Given the description of an element on the screen output the (x, y) to click on. 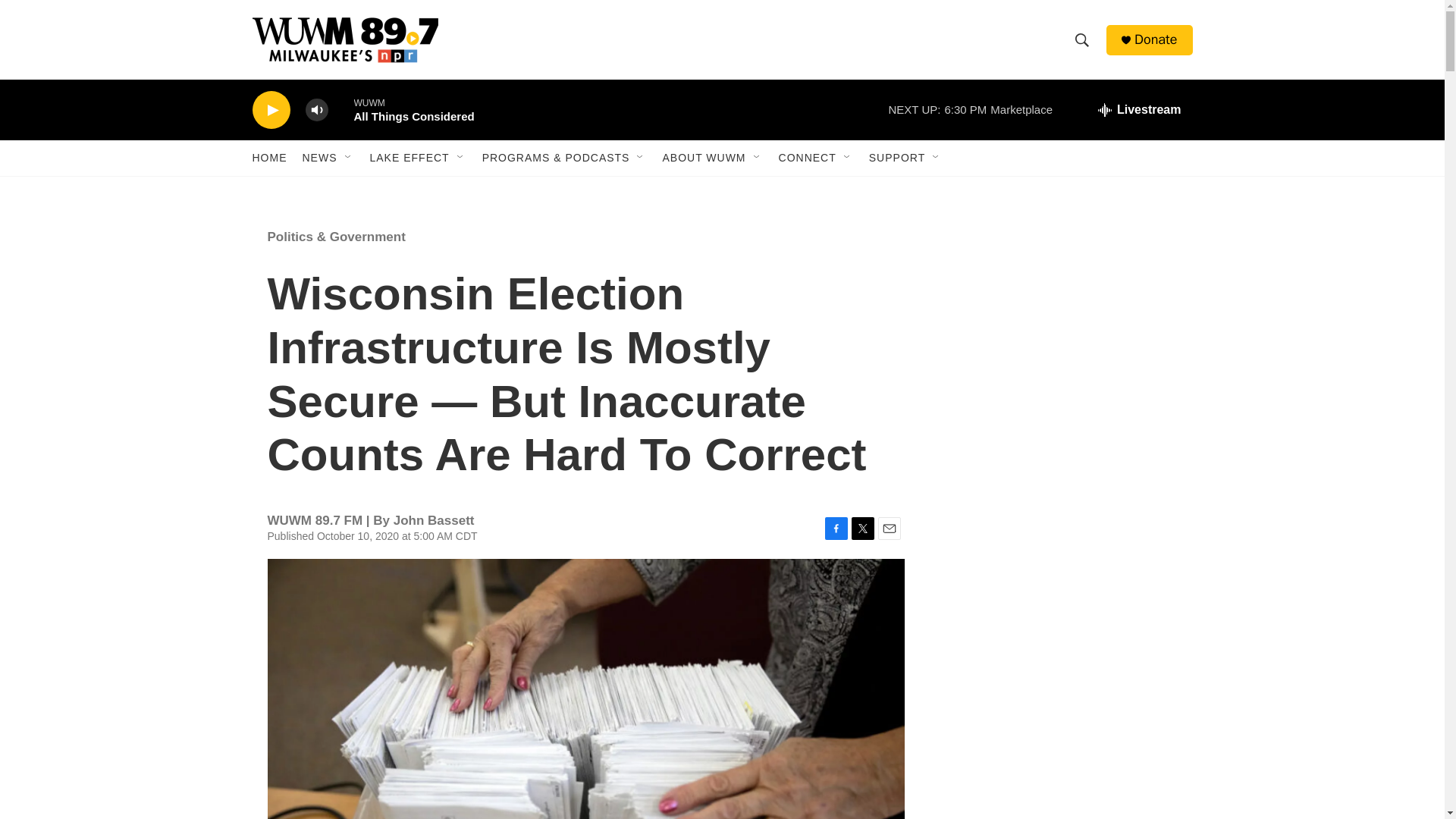
3rd party ad content (1062, 316)
3rd party ad content (1062, 536)
3rd party ad content (1062, 740)
